Given the description of an element on the screen output the (x, y) to click on. 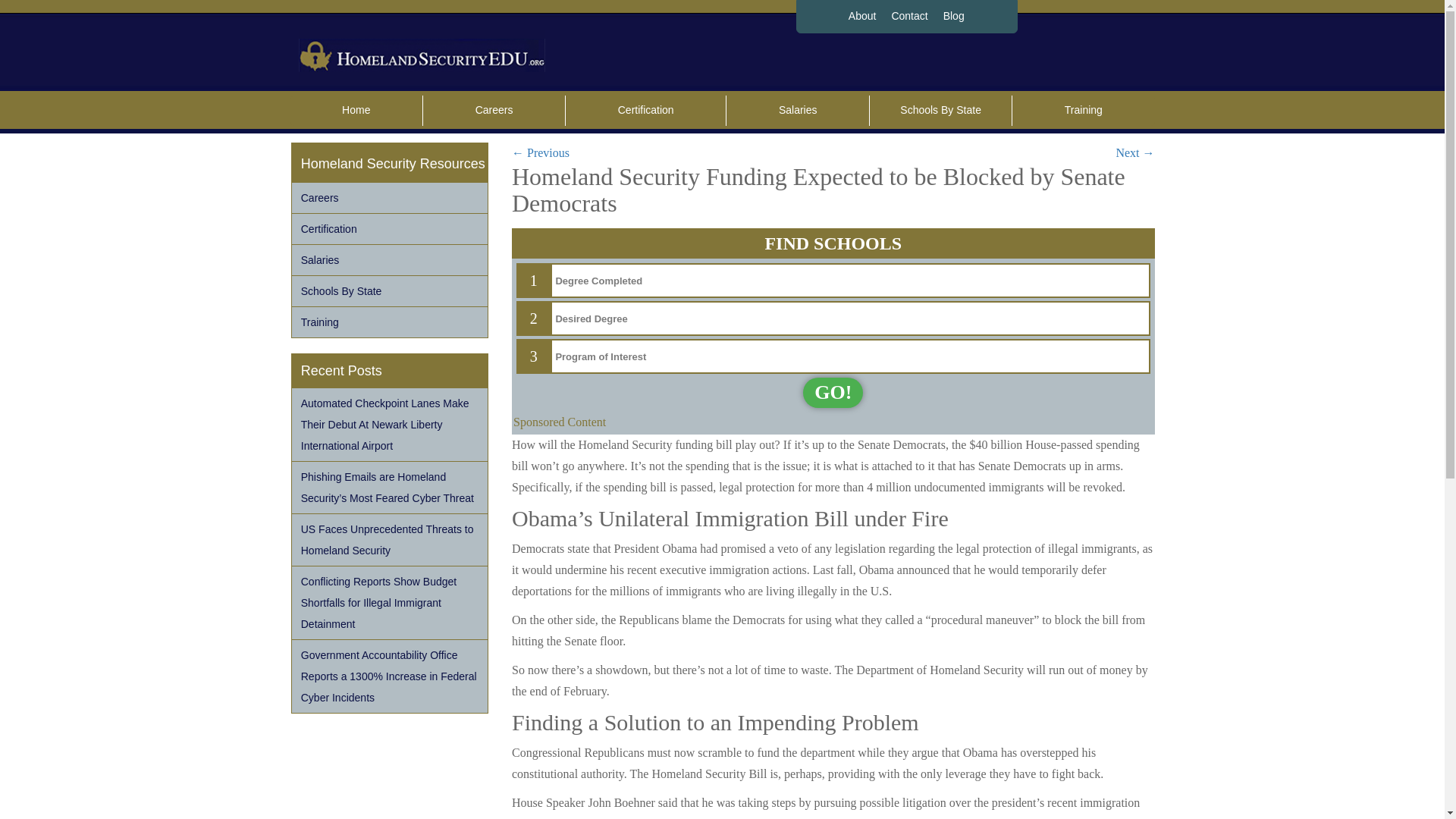
Contact (908, 16)
Home (355, 110)
Salaries (797, 110)
Training (1082, 110)
Careers (389, 197)
About (862, 16)
Careers (493, 110)
Salaries (797, 110)
Home (355, 110)
Schools By State (940, 110)
